Given the description of an element on the screen output the (x, y) to click on. 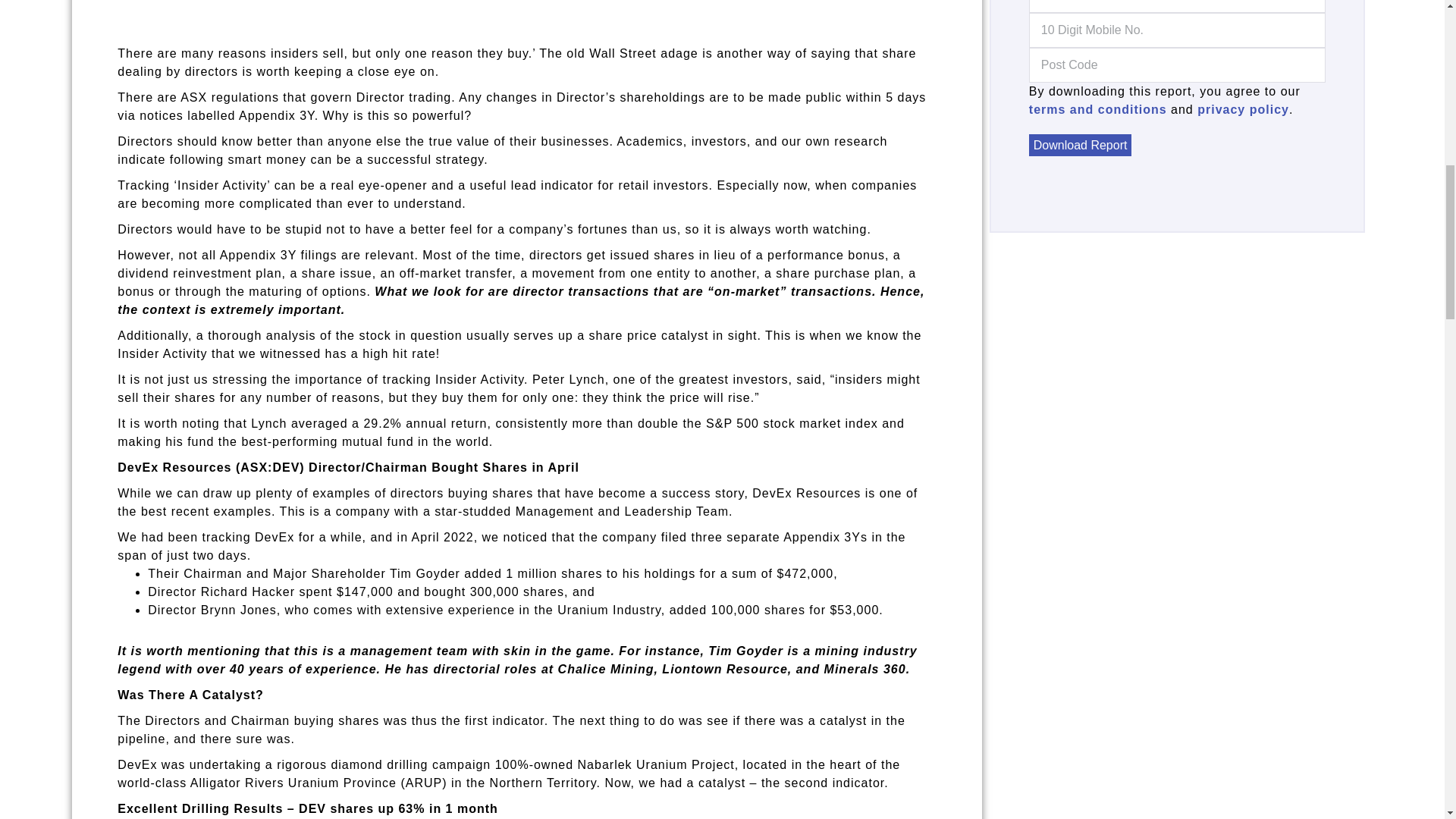
Download Report (1080, 145)
privacy policy (1242, 109)
terms and conditions (1098, 109)
